Given the description of an element on the screen output the (x, y) to click on. 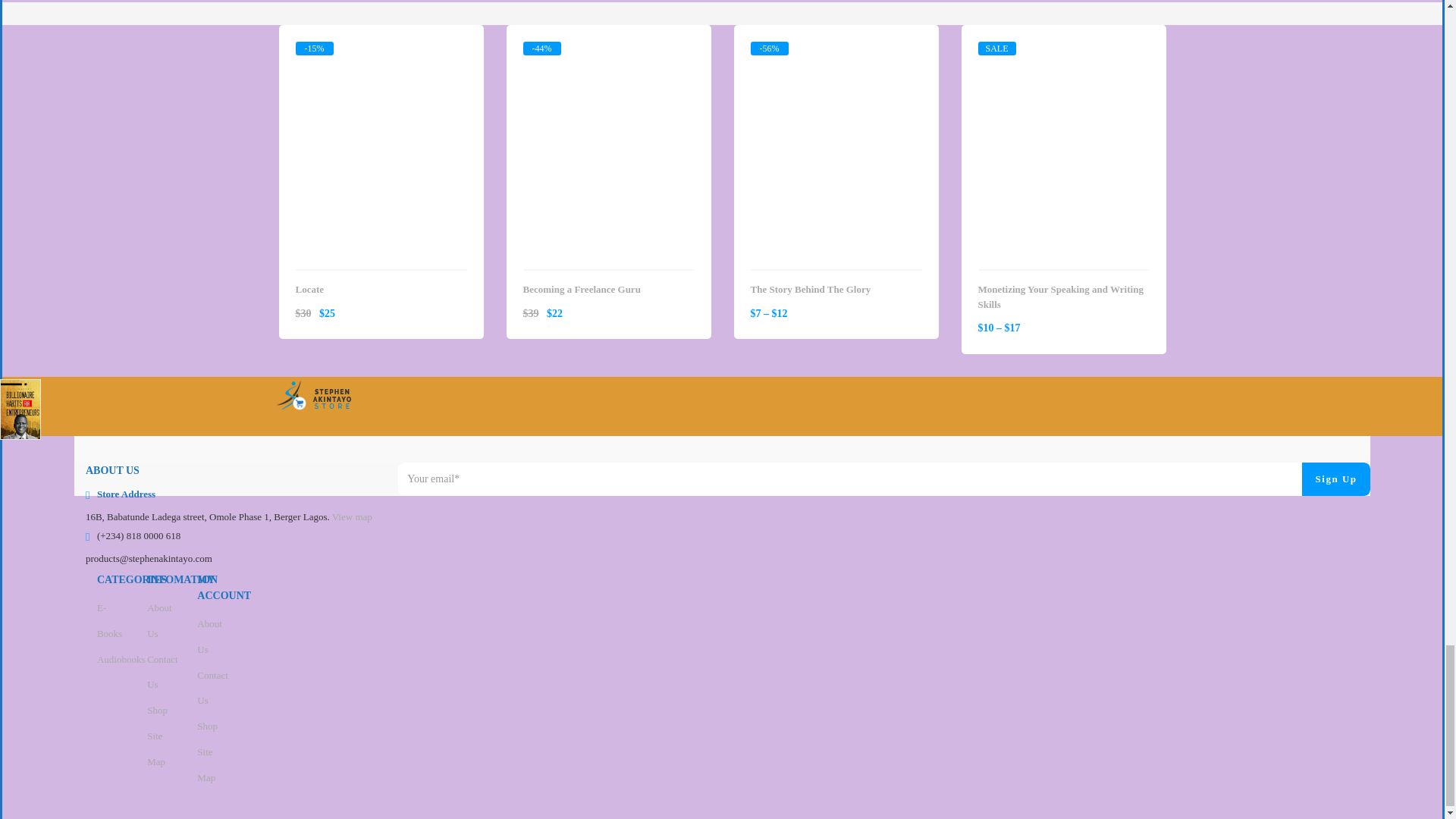
Becoming a Freelance Guru (608, 55)
Locate (381, 55)
Sign Up (1335, 479)
